Given the description of an element on the screen output the (x, y) to click on. 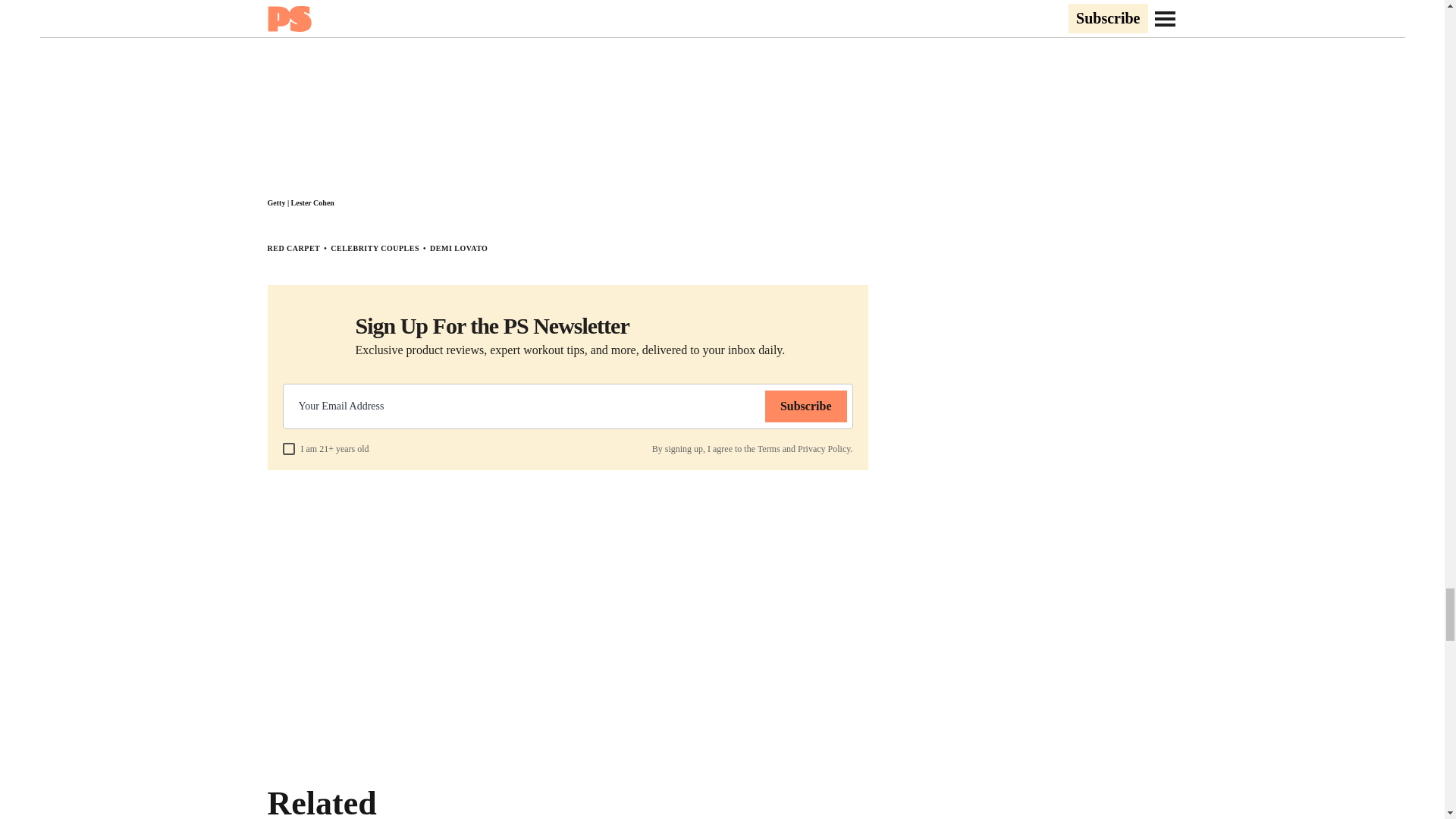
Terms (768, 448)
Privacy Policy. (825, 448)
CELEBRITY COUPLES (374, 248)
RED CARPET (293, 248)
Subscribe (806, 406)
DEMI LOVATO (458, 248)
